Given the description of an element on the screen output the (x, y) to click on. 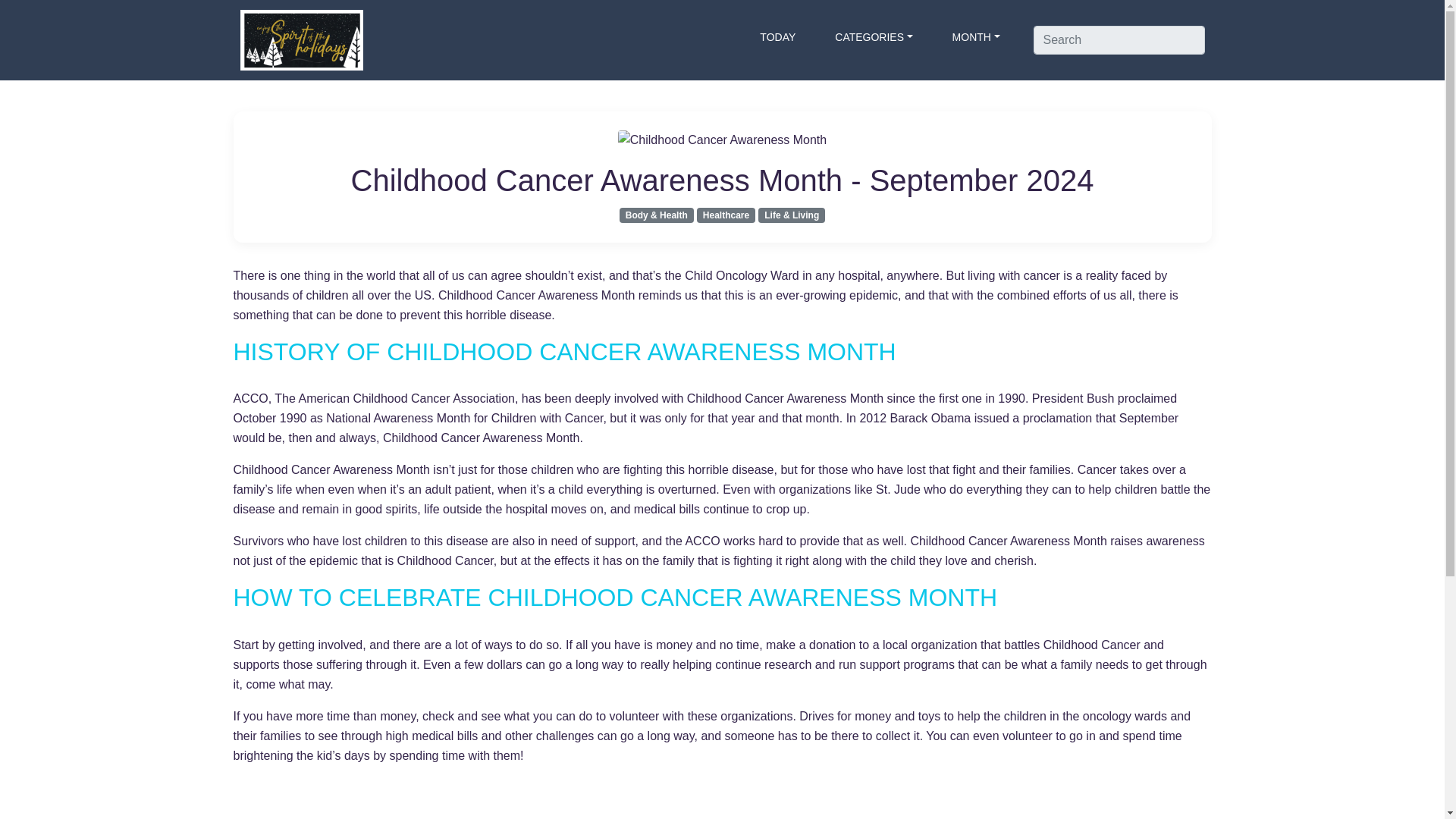
MONTH (976, 36)
TODAY (778, 36)
Healthcare (726, 214)
CATEGORIES (873, 36)
